Given the description of an element on the screen output the (x, y) to click on. 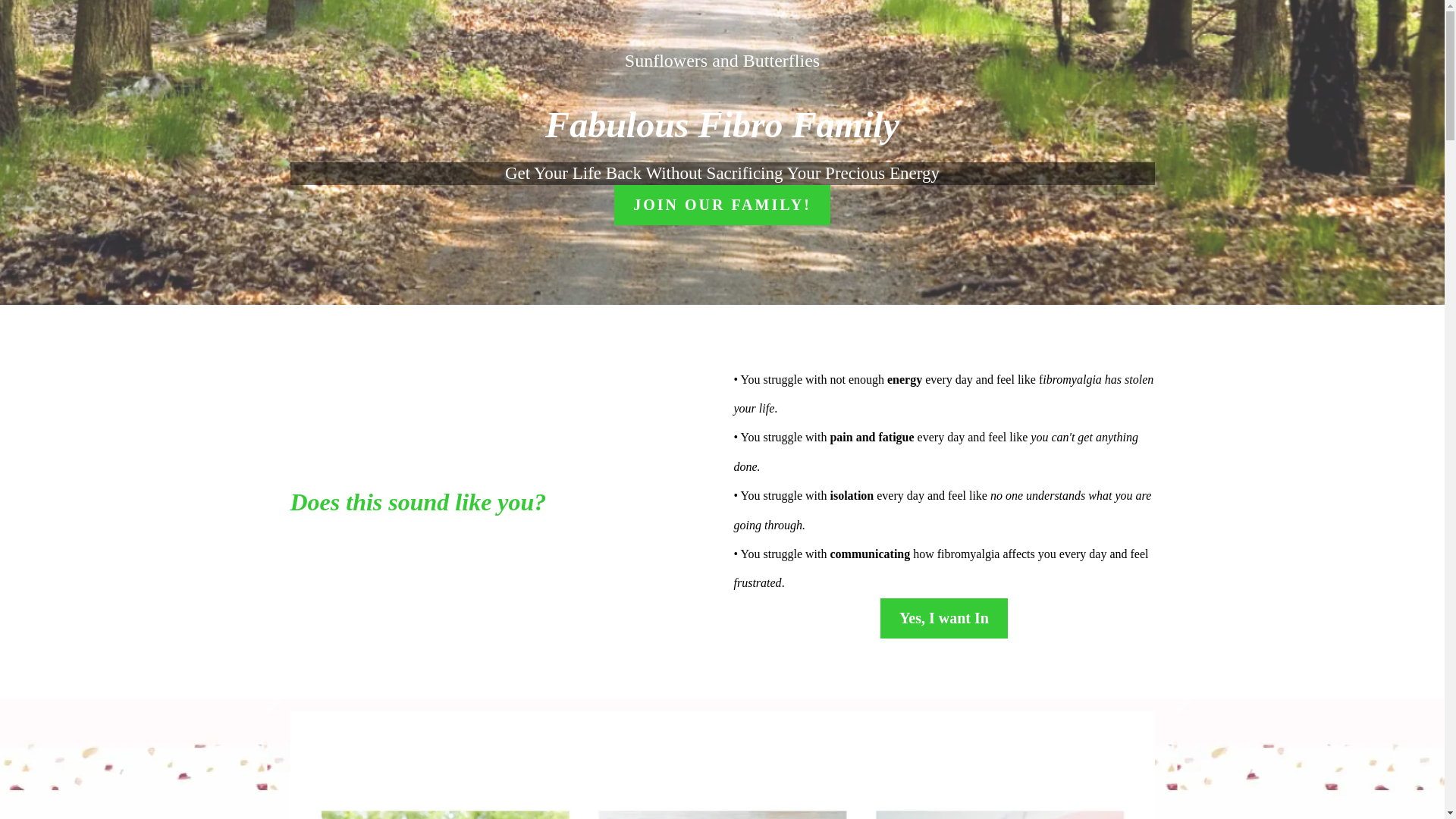
JOIN OUR FAMILY! (721, 205)
Yes, I want In (943, 618)
